Given the description of an element on the screen output the (x, y) to click on. 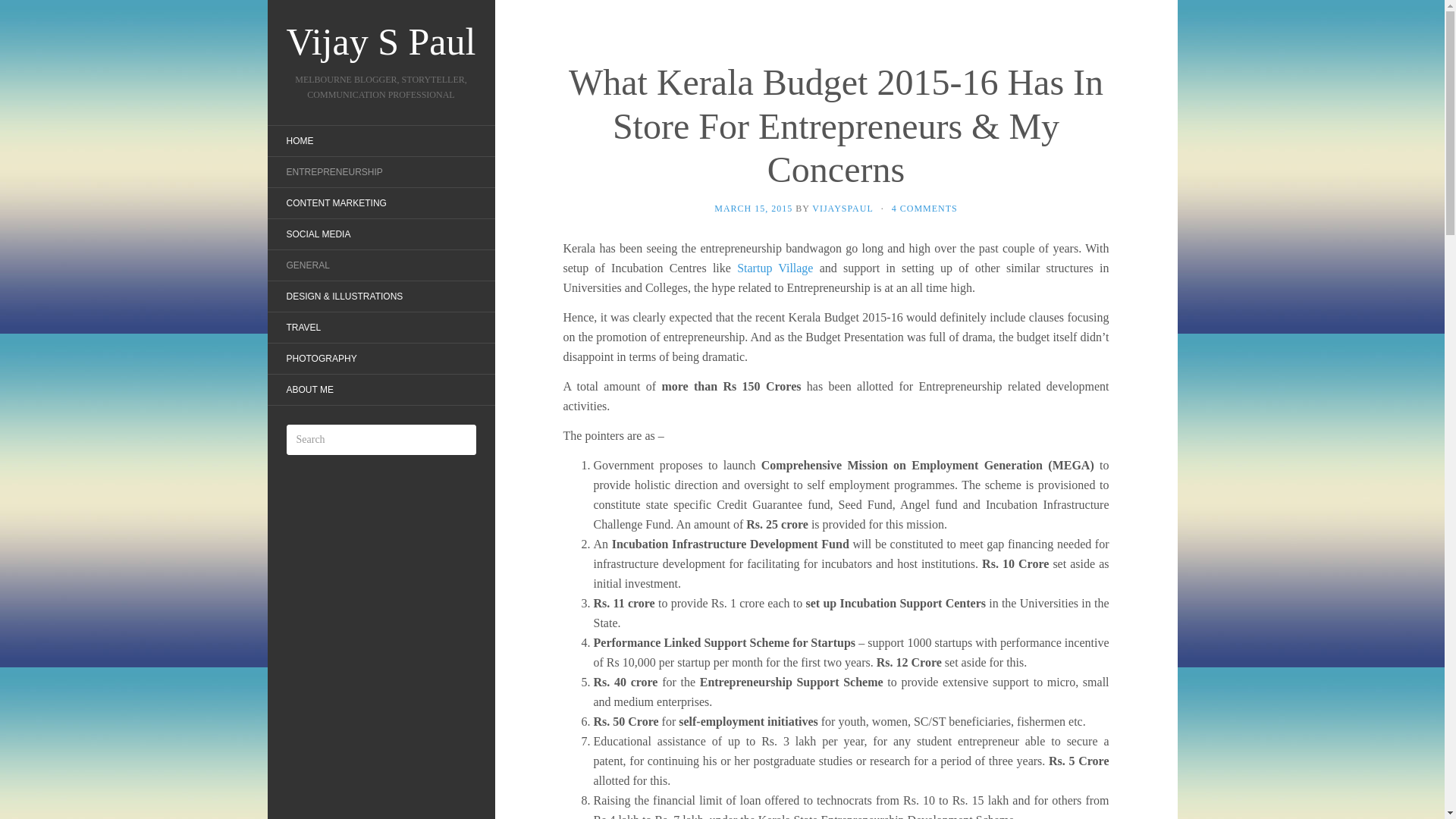
VIJAYSPAUL (842, 208)
HOME (298, 140)
ENTREPRENEURSHIP (333, 171)
Startup Village (774, 267)
Vijay S Paul (380, 41)
MARCH 15, 2015 (753, 208)
Vijay S Paul (380, 41)
SOCIAL MEDIA (317, 234)
TRAVEL (302, 327)
GENERAL (306, 265)
